Given the description of an element on the screen output the (x, y) to click on. 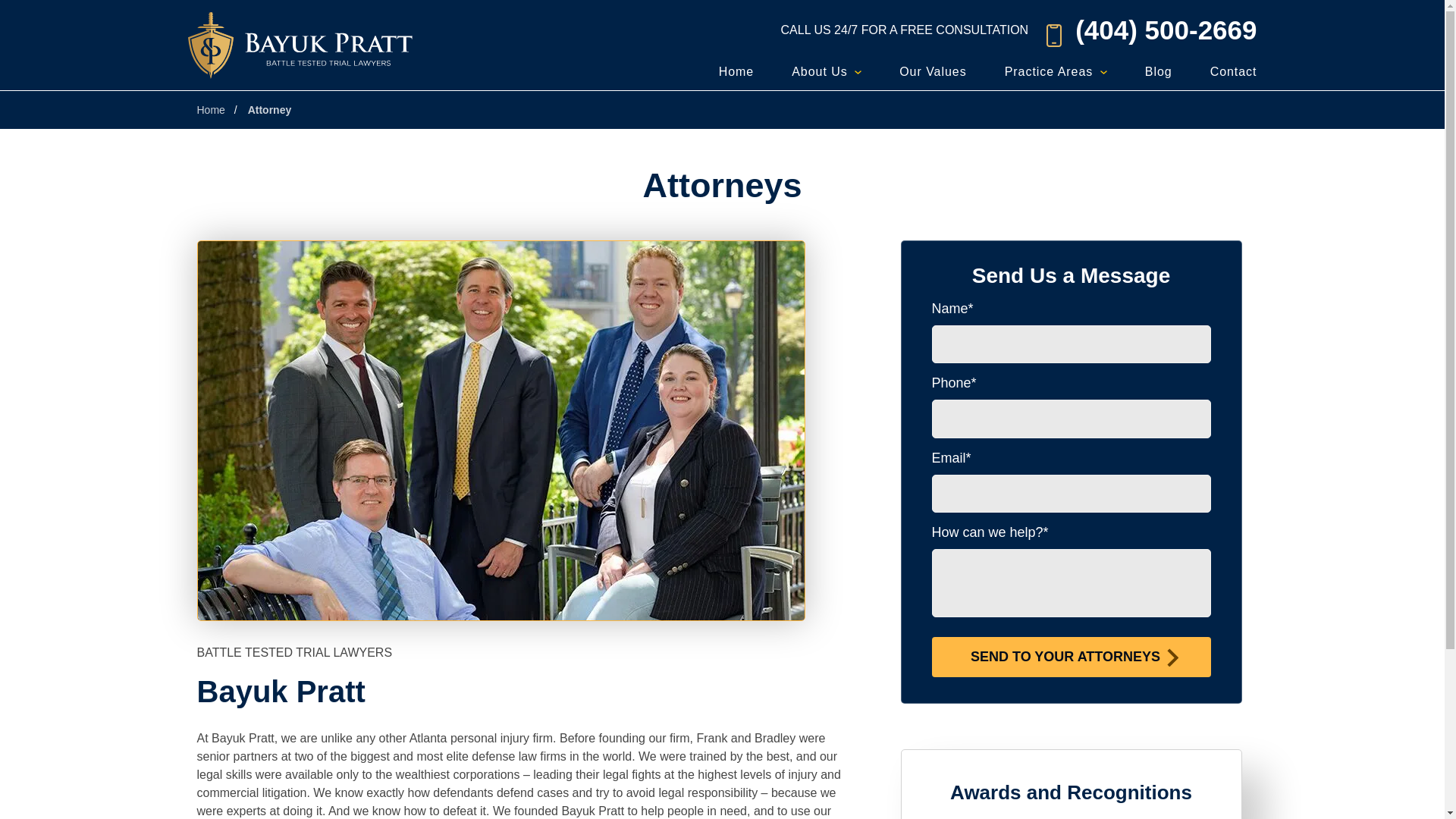
About Us (826, 71)
Our Values (932, 71)
About Us (826, 71)
Practice Areas (1055, 71)
Home (736, 71)
Home (736, 71)
Our Values (932, 71)
Practice Areas (1055, 71)
